Given the description of an element on the screen output the (x, y) to click on. 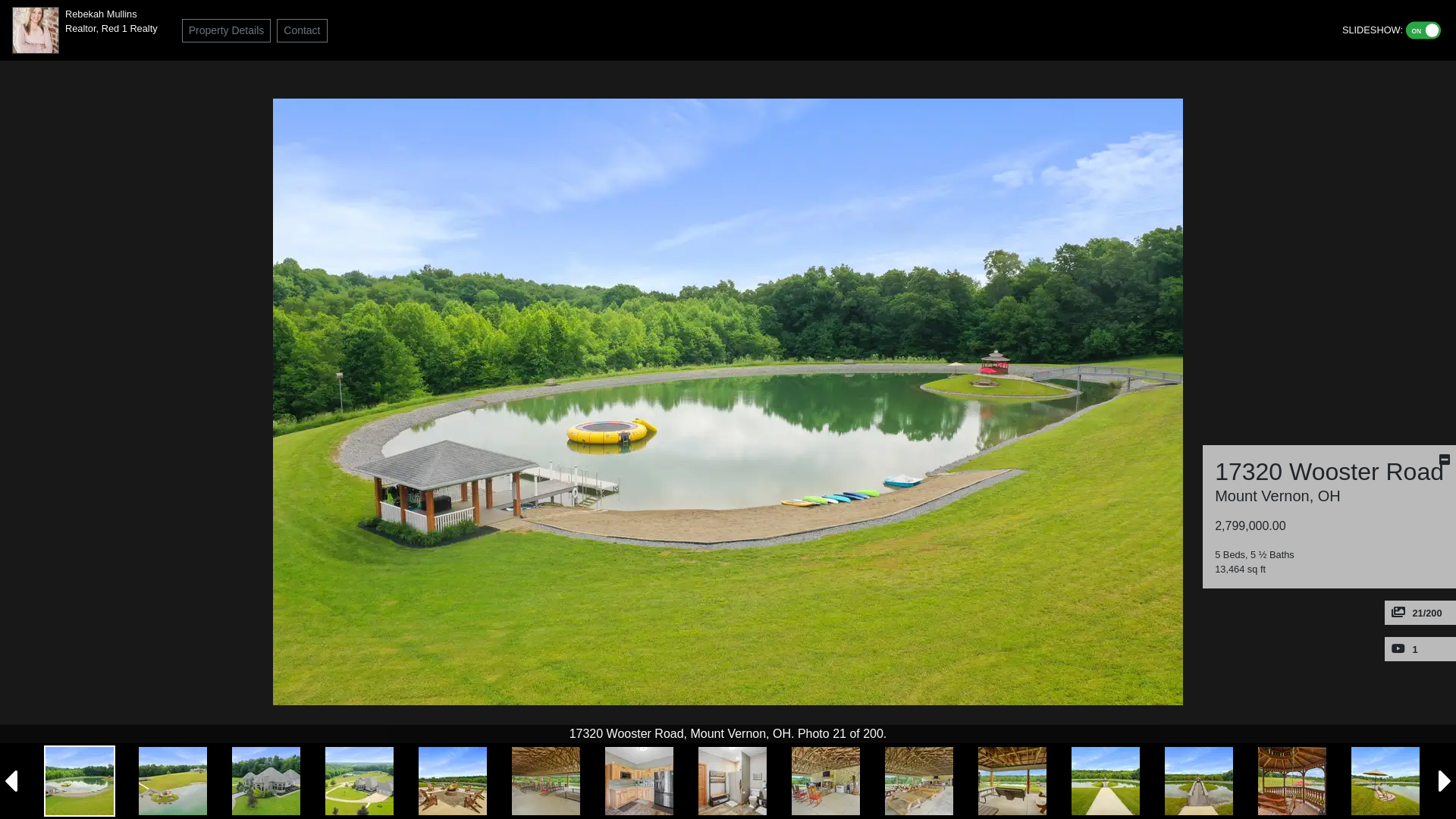
Contact Element type: text (301, 29)
Property Details Element type: text (226, 29)
